Given the description of an element on the screen output the (x, y) to click on. 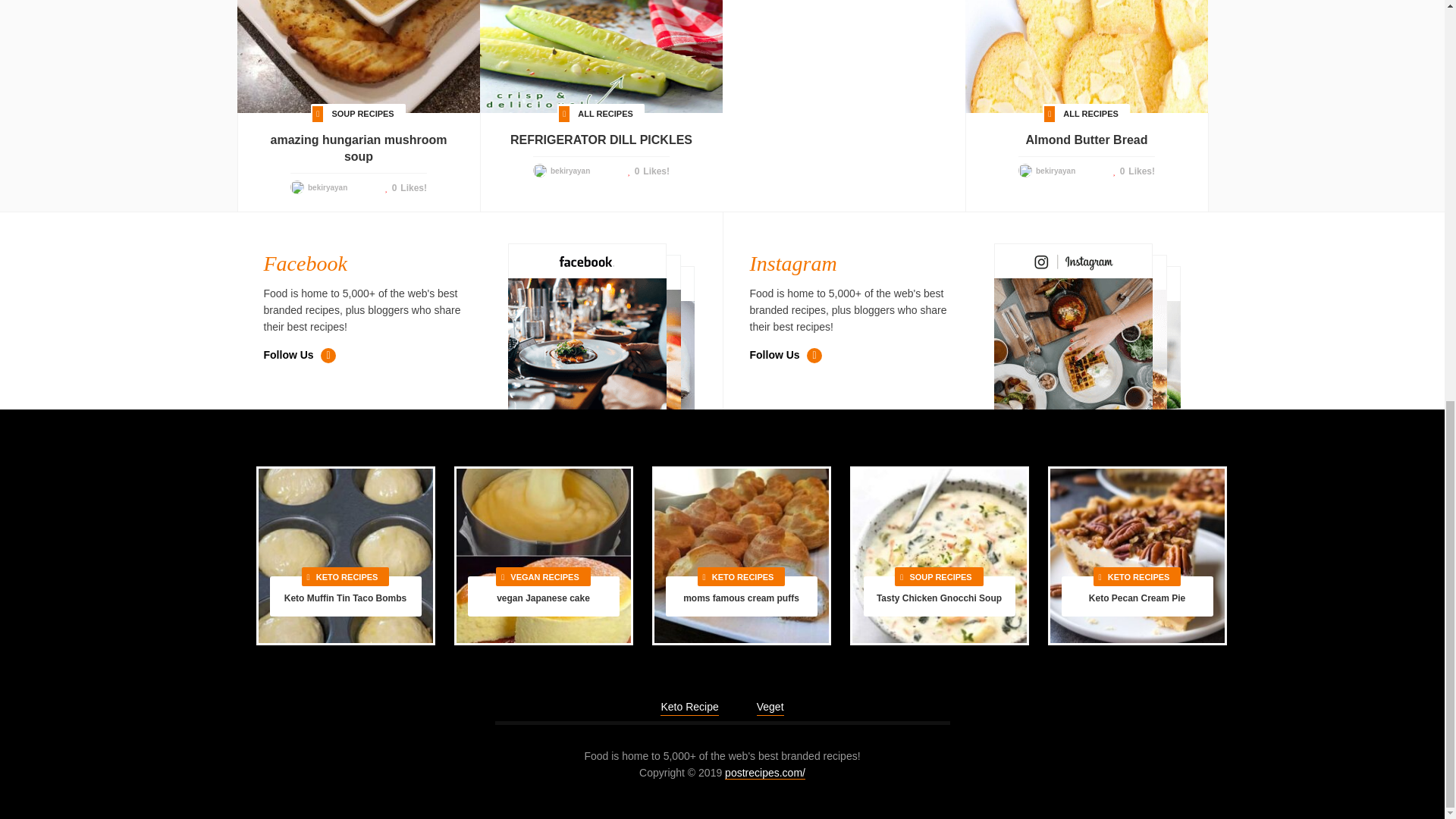
amazing hungarian mushroom soup (358, 148)
ALL RECIPES (1090, 113)
REFRIGERATOR DILL PICKLES (601, 139)
bekiryayan (327, 187)
bekiryayan (569, 171)
Posts by bekiryayan (327, 187)
Posts by bekiryayan (569, 171)
Posts by bekiryayan (1055, 171)
ALL RECIPES (605, 113)
SOUP RECIPES (362, 113)
